Given the description of an element on the screen output the (x, y) to click on. 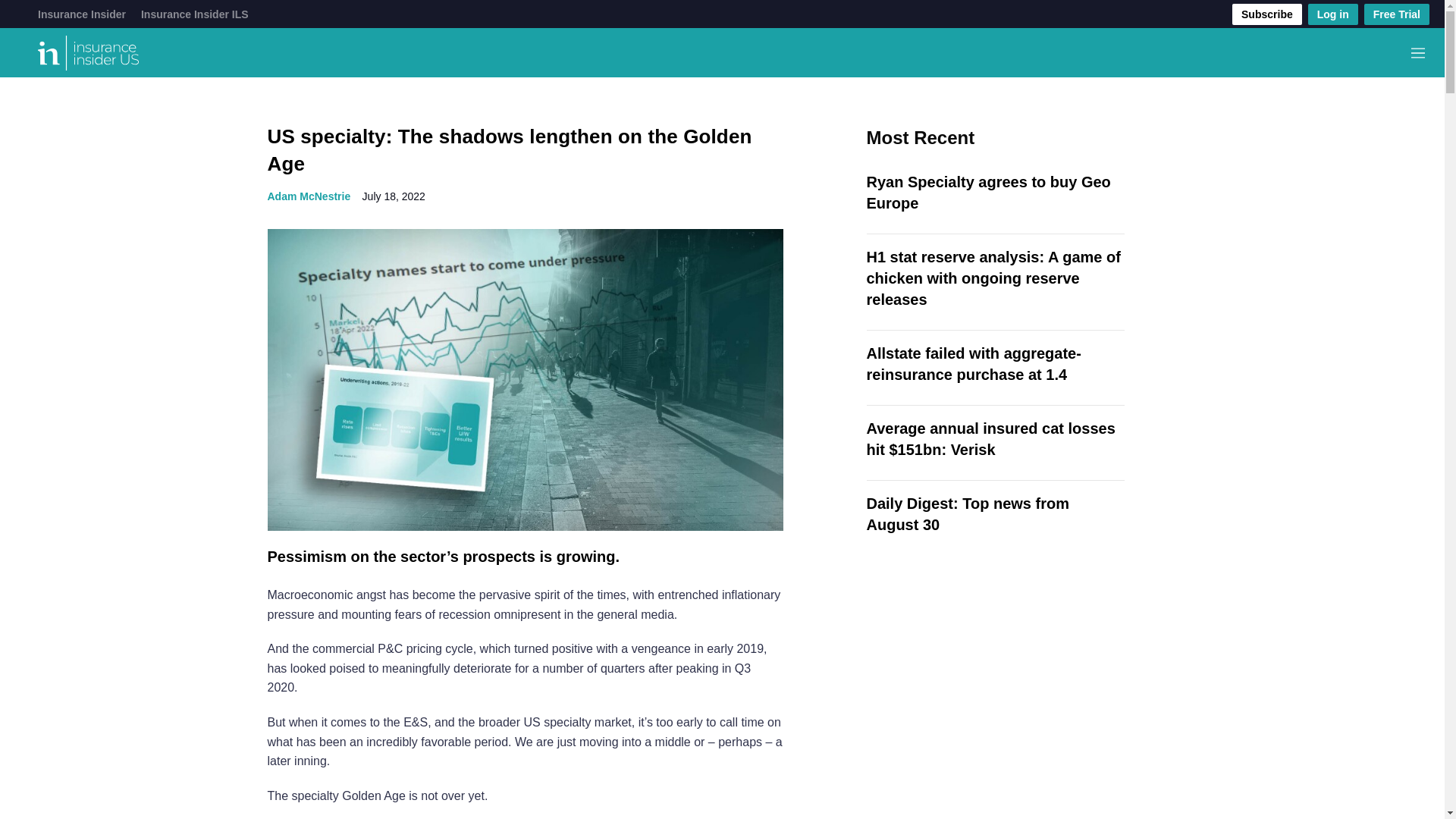
Subscribe (1266, 13)
Insurance Insider (81, 13)
Free Trial (1396, 13)
Log in (1332, 13)
Insurance Insider ILS (194, 13)
